Given the description of an element on the screen output the (x, y) to click on. 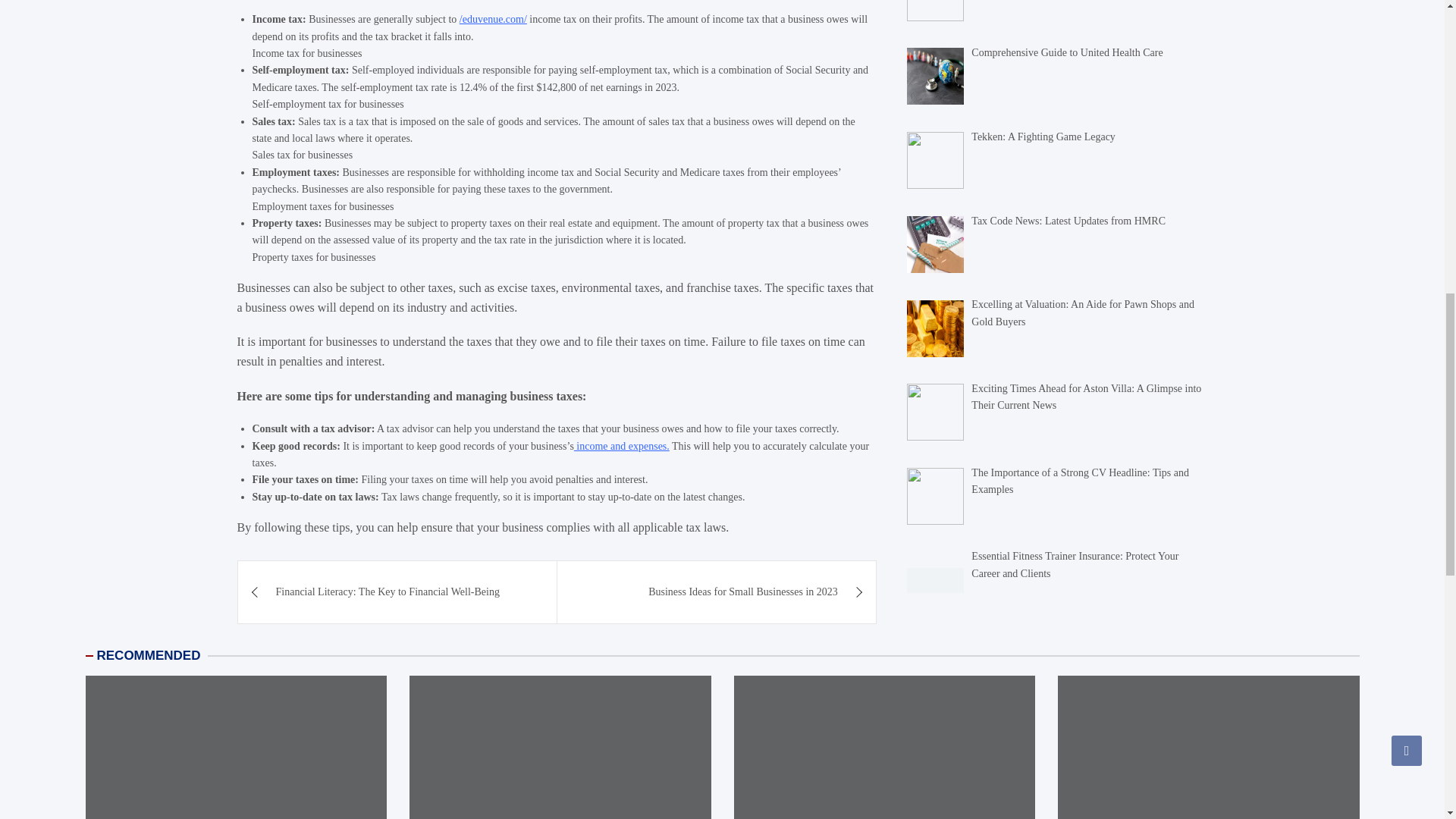
Business Ideas for Small Businesses in 2023 (716, 592)
Financial Literacy: The Key to Financial Well-Being (397, 592)
gold buyers (935, 84)
income and expenses. (621, 446)
